Given the description of an element on the screen output the (x, y) to click on. 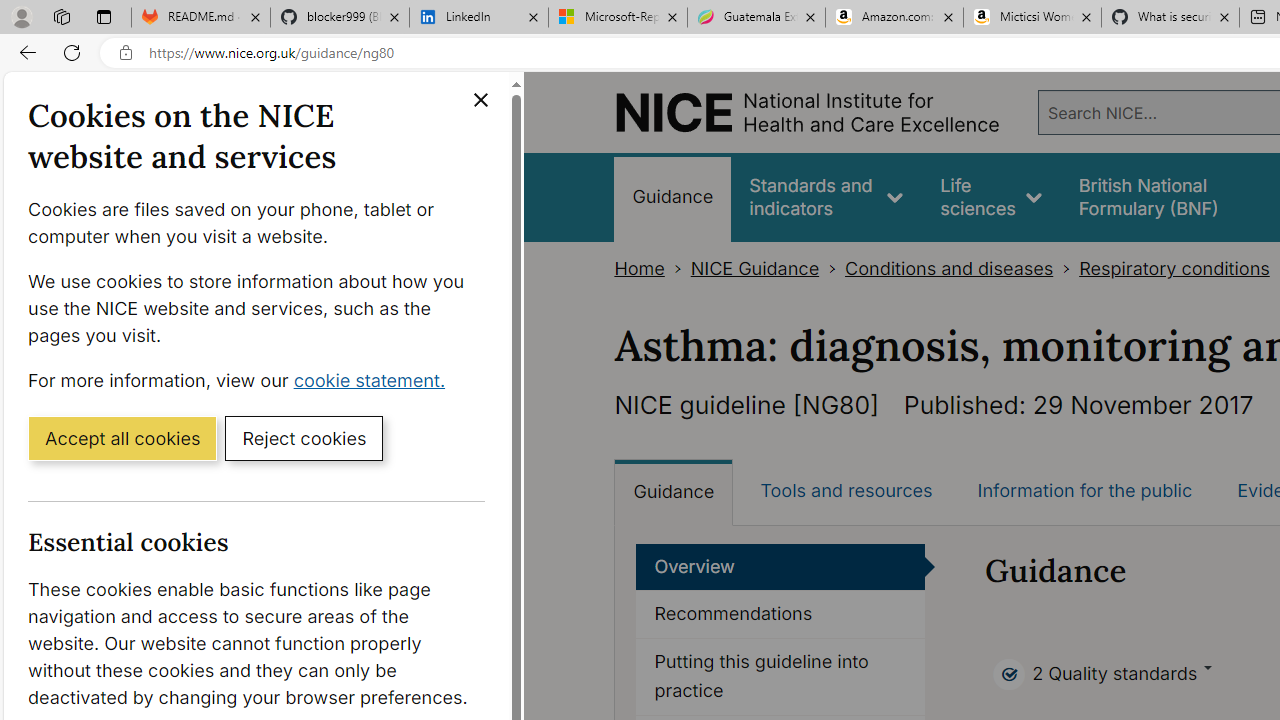
Home> (652, 268)
Guidance (673, 491)
Accept all cookies (122, 437)
Overview (780, 566)
NICE Guidance> (767, 268)
Information for the public (1084, 490)
false (1167, 196)
Putting this guideline into practice (780, 676)
Conditions and diseases (948, 268)
